Given the description of an element on the screen output the (x, y) to click on. 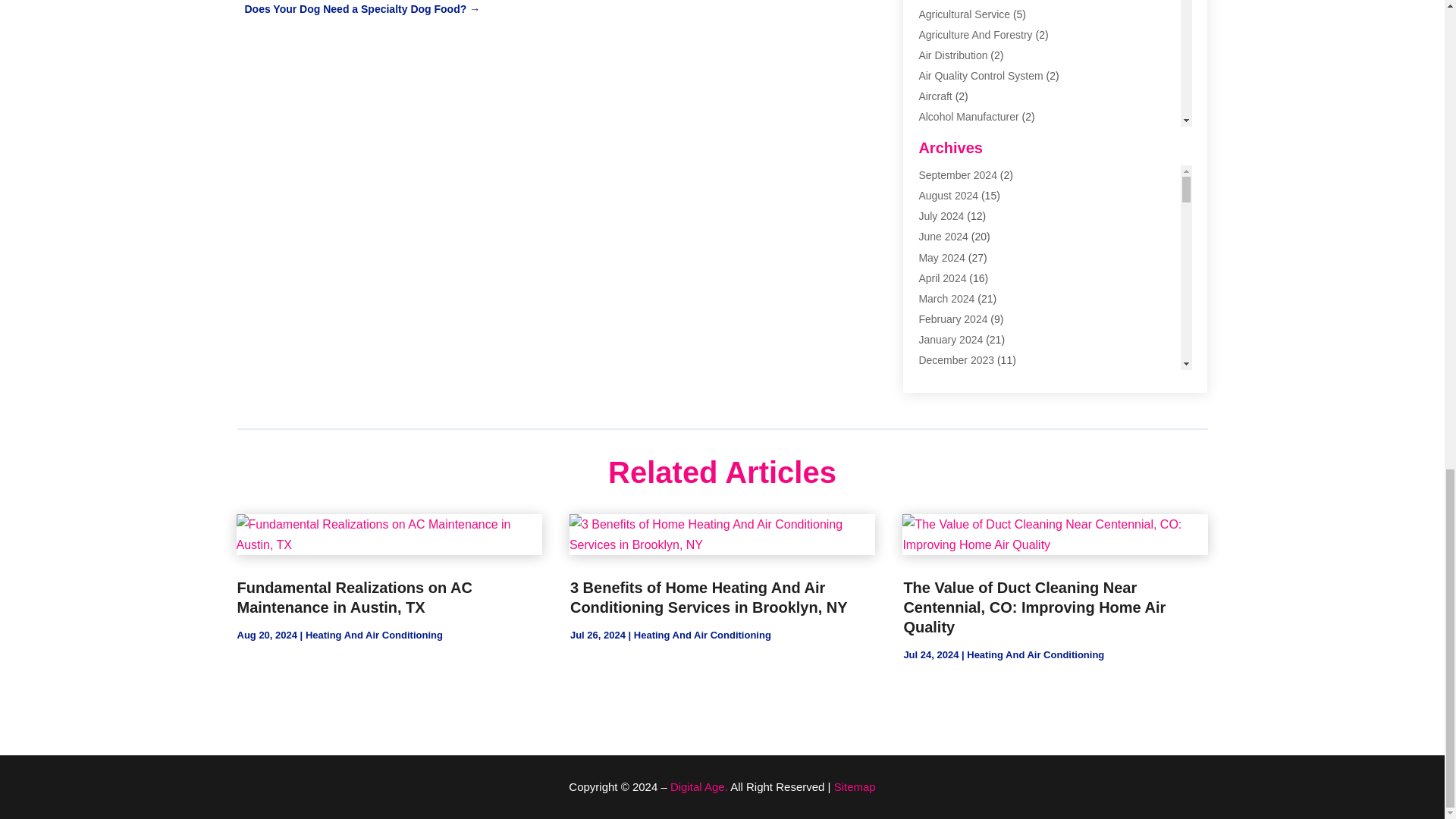
Agricultural Service (964, 14)
Alcohol Manufacturer (967, 116)
Air Distribution (952, 55)
Aircraft (935, 96)
Animal Removal (956, 158)
Apartment Building (962, 178)
Agriculture And Forestry (975, 34)
Aluminum Supplier (962, 137)
Asbestos Testing (958, 219)
Air Quality Control System (980, 75)
